Given the description of an element on the screen output the (x, y) to click on. 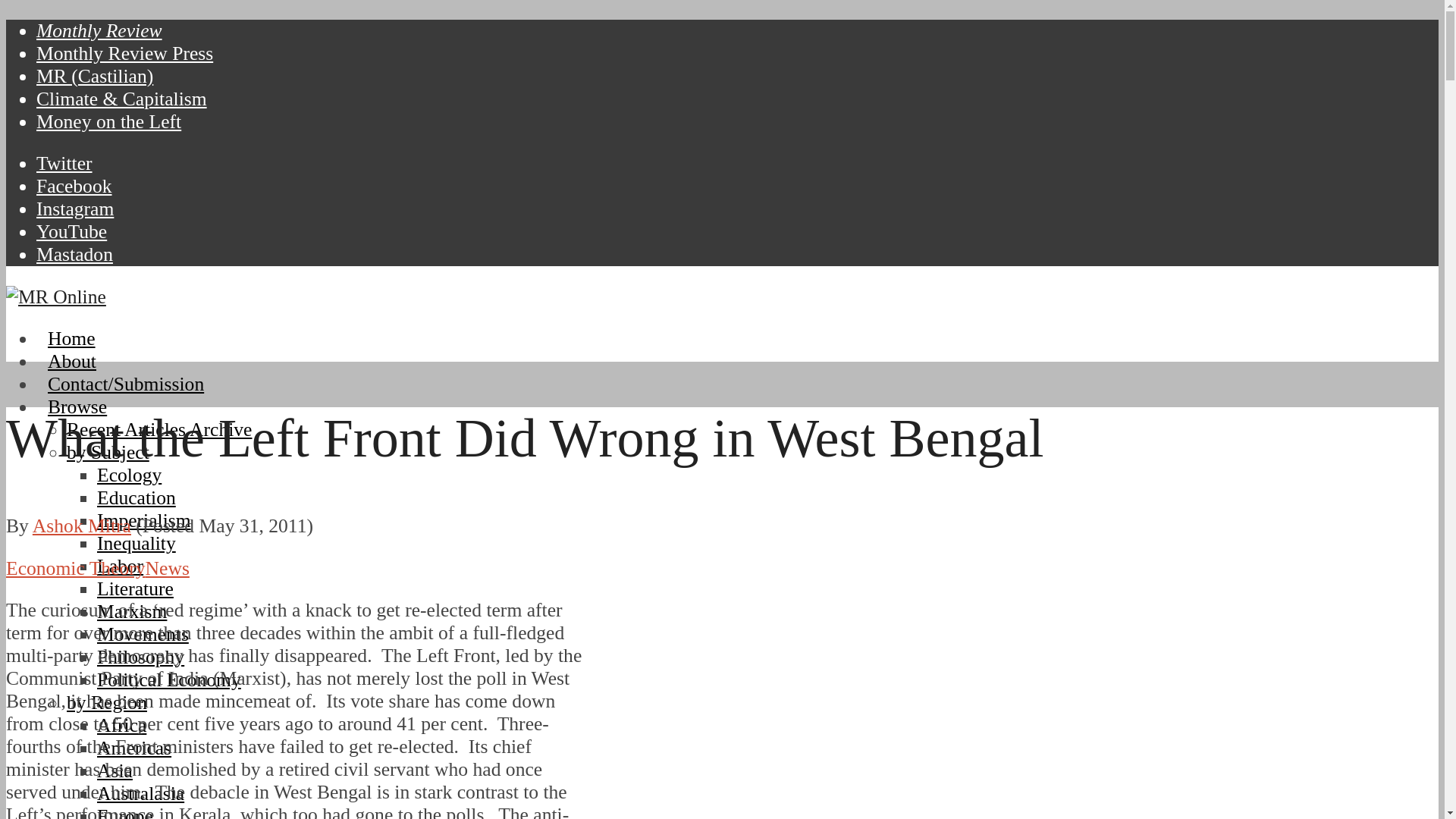
Money on the Left (108, 121)
Europe (124, 812)
Mastadon (74, 254)
Imperialism (143, 520)
Inequality (136, 543)
Africa (122, 725)
Marxism (132, 611)
Monthly Review Magazine (98, 30)
Monthly Review Press (124, 53)
Twitter (64, 163)
Education (136, 497)
Ecology (129, 475)
Facebook (74, 186)
by Region (106, 702)
Political Economy (169, 680)
